Given the description of an element on the screen output the (x, y) to click on. 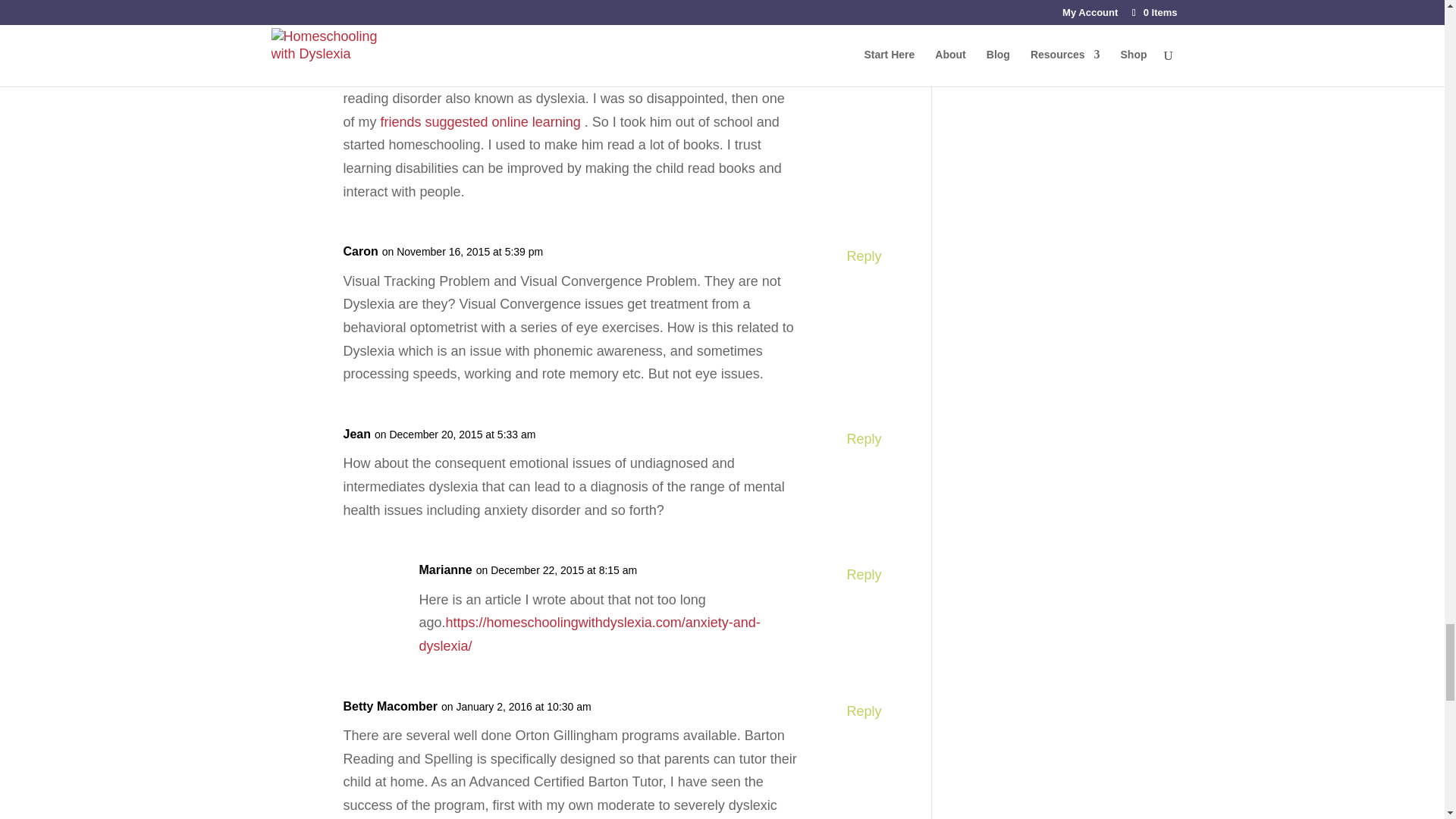
Reply (862, 51)
Reply (862, 575)
Reply (862, 256)
Reply (862, 439)
friends suggested online learning (480, 121)
